Given the description of an element on the screen output the (x, y) to click on. 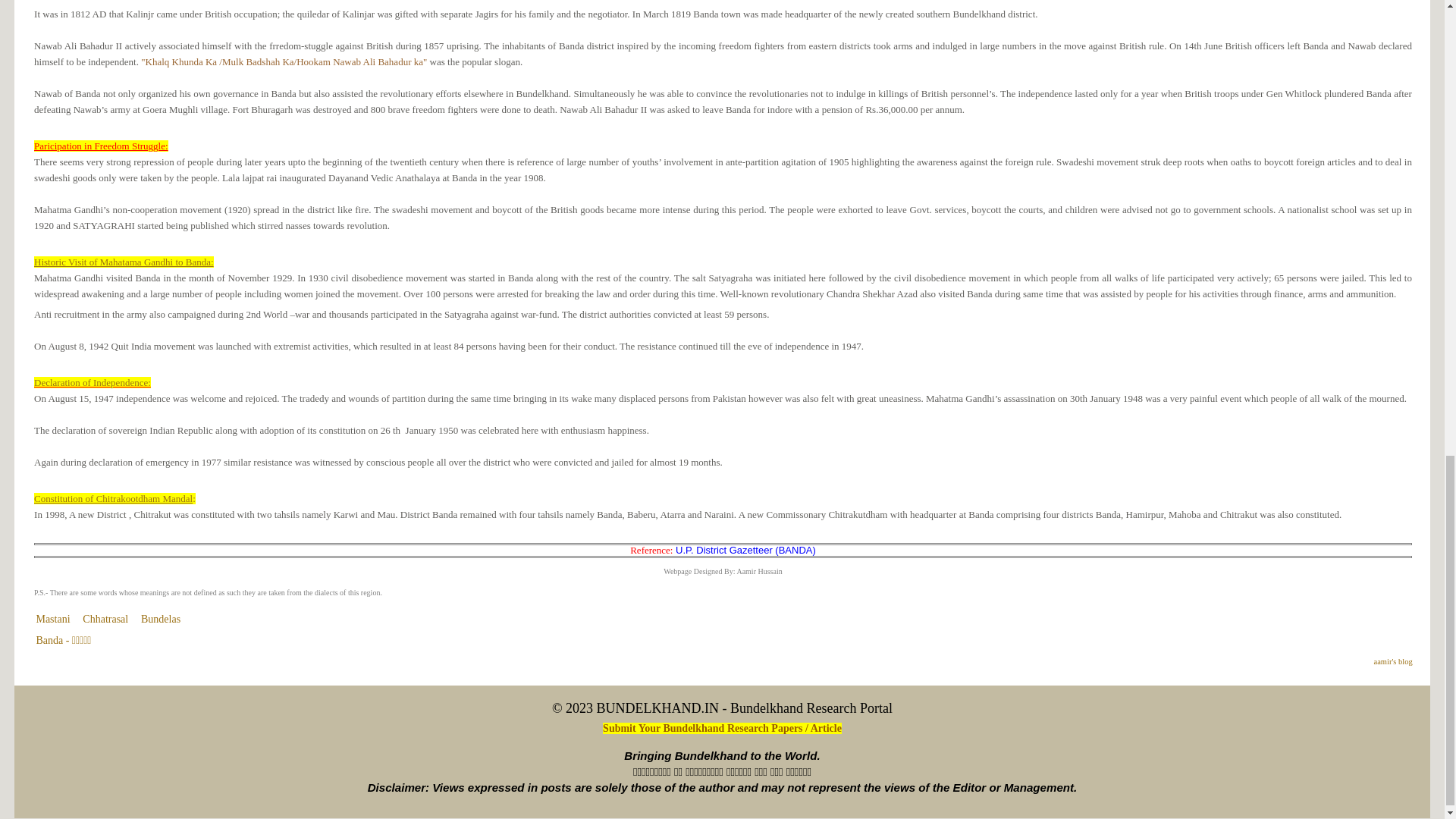
Constitution of Chitrakootdham Mandal: (114, 498)
Chhatrasal (105, 618)
Paricipation in Freedom Struggle: (100, 145)
Historic Visit of Mahatama Gandhi to Banda: (123, 261)
Read aamir's latest blog entries. (1393, 661)
Bundelas (160, 618)
aamir's blog (1393, 661)
Mastani (51, 618)
Declaration of Independence: (92, 382)
